Given the description of an element on the screen output the (x, y) to click on. 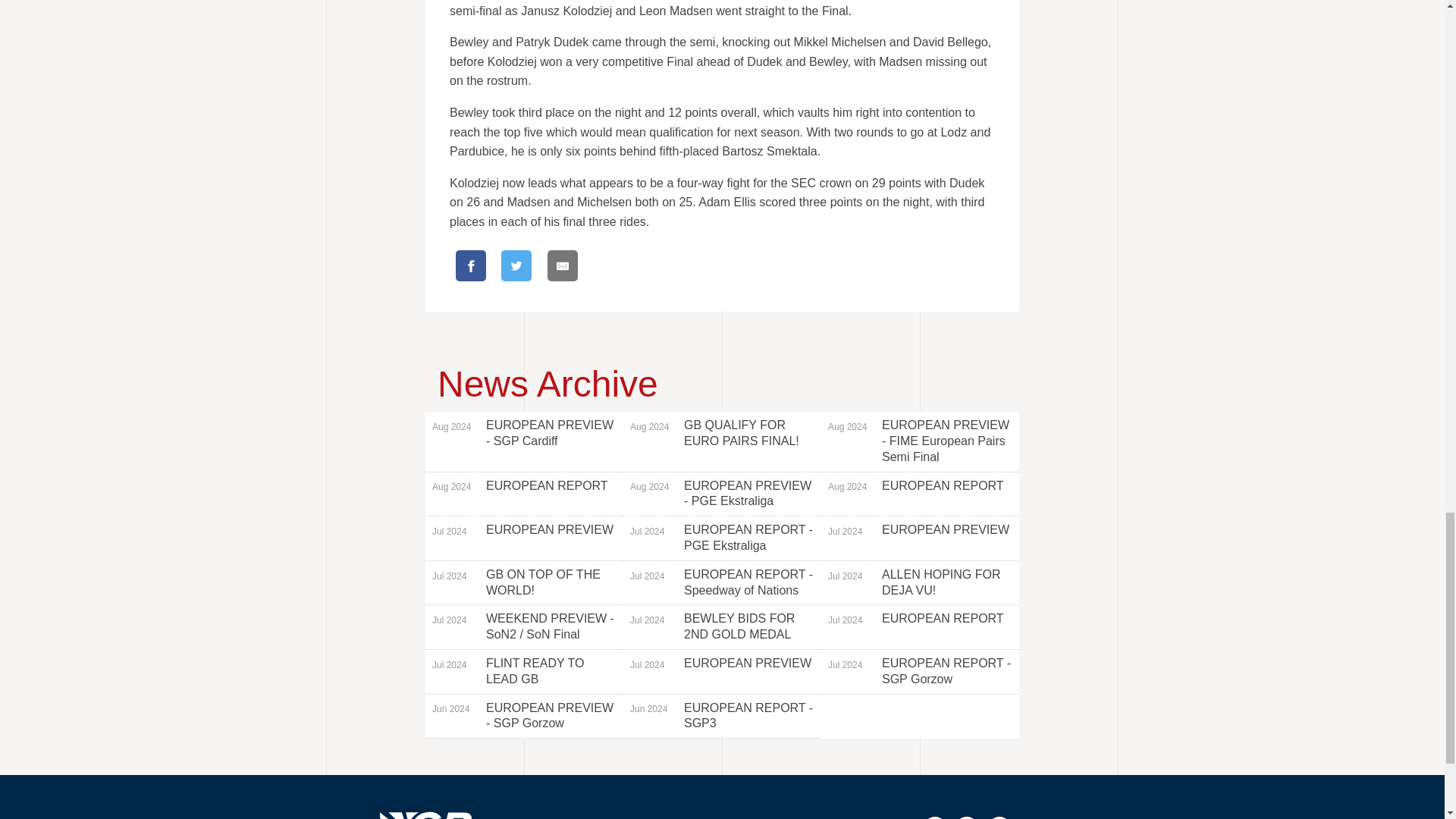
SPEEDWAY (781, 818)
